Given the description of an element on the screen output the (x, y) to click on. 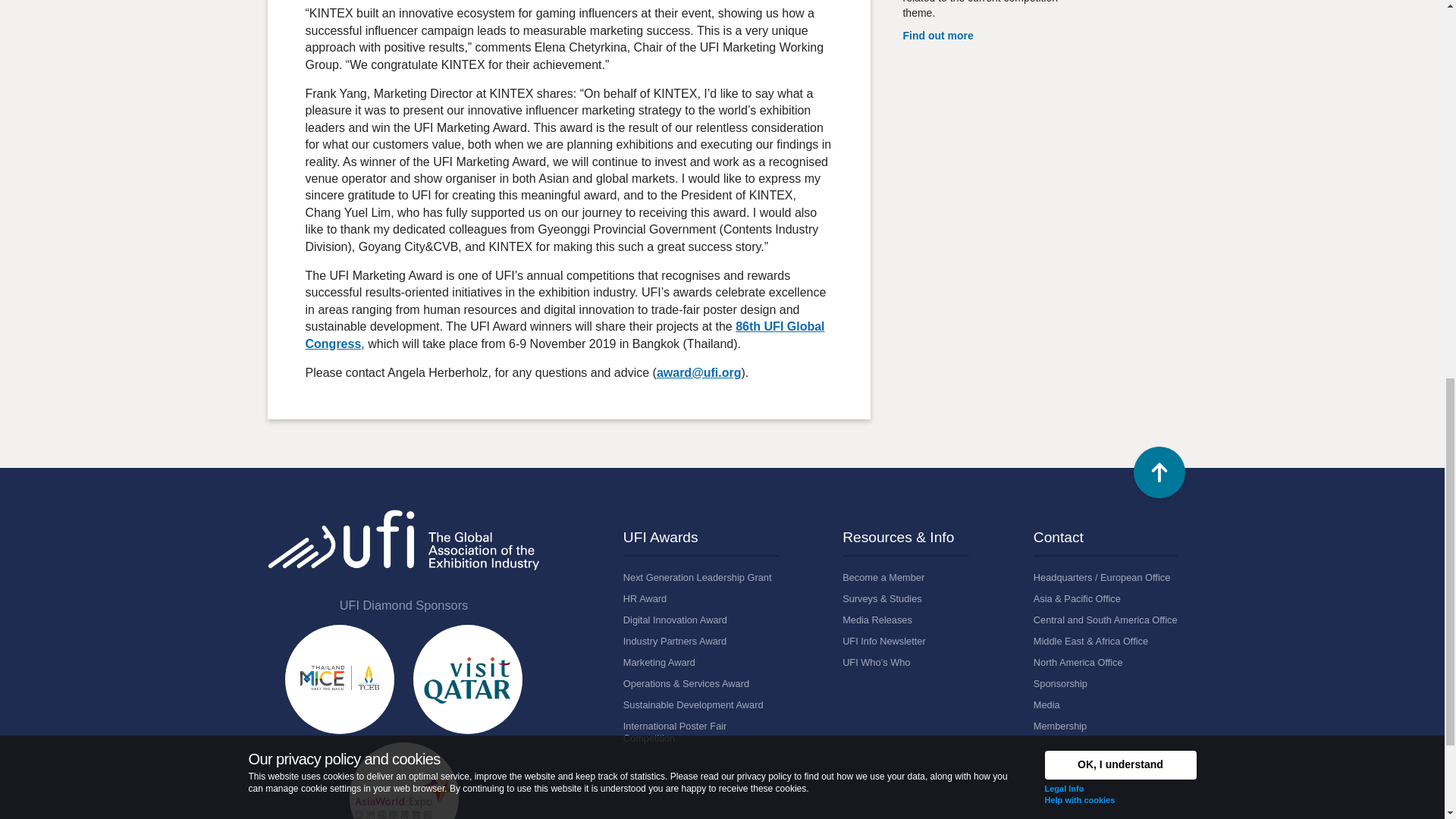
Find out more (937, 35)
86th UFI Global Congress (564, 334)
Back to top (1158, 471)
